Given the description of an element on the screen output the (x, y) to click on. 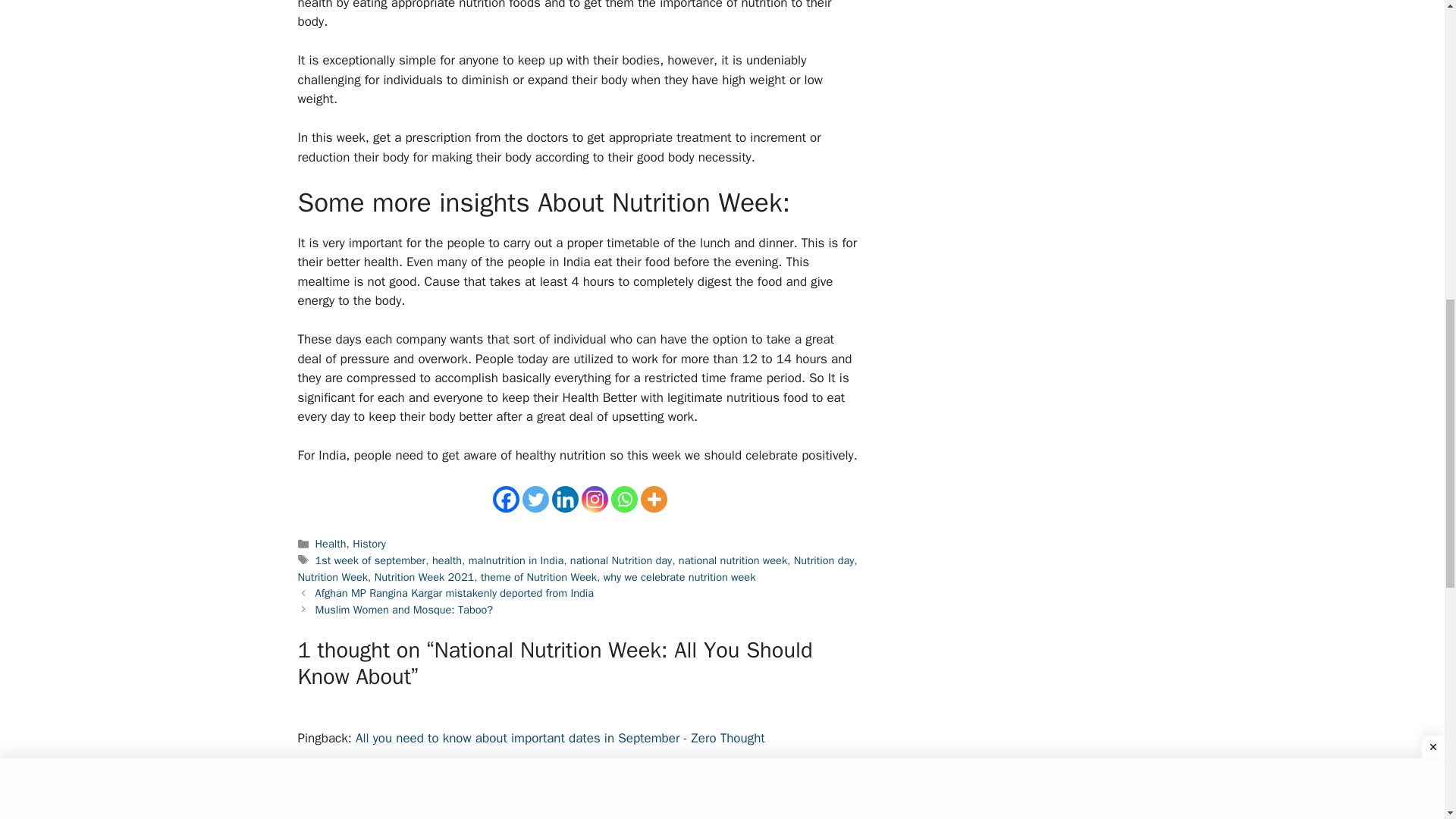
Health (330, 543)
History (368, 543)
national Nutrition day (620, 560)
Nutrition day (823, 560)
health (446, 560)
Facebook (506, 499)
national nutrition week (732, 560)
Linkedin (564, 499)
More (653, 499)
Nutrition Week (332, 576)
1st week of september (370, 560)
Twitter (534, 499)
Instagram (593, 499)
Scroll back to top (1406, 720)
malnutrition in India (515, 560)
